Given the description of an element on the screen output the (x, y) to click on. 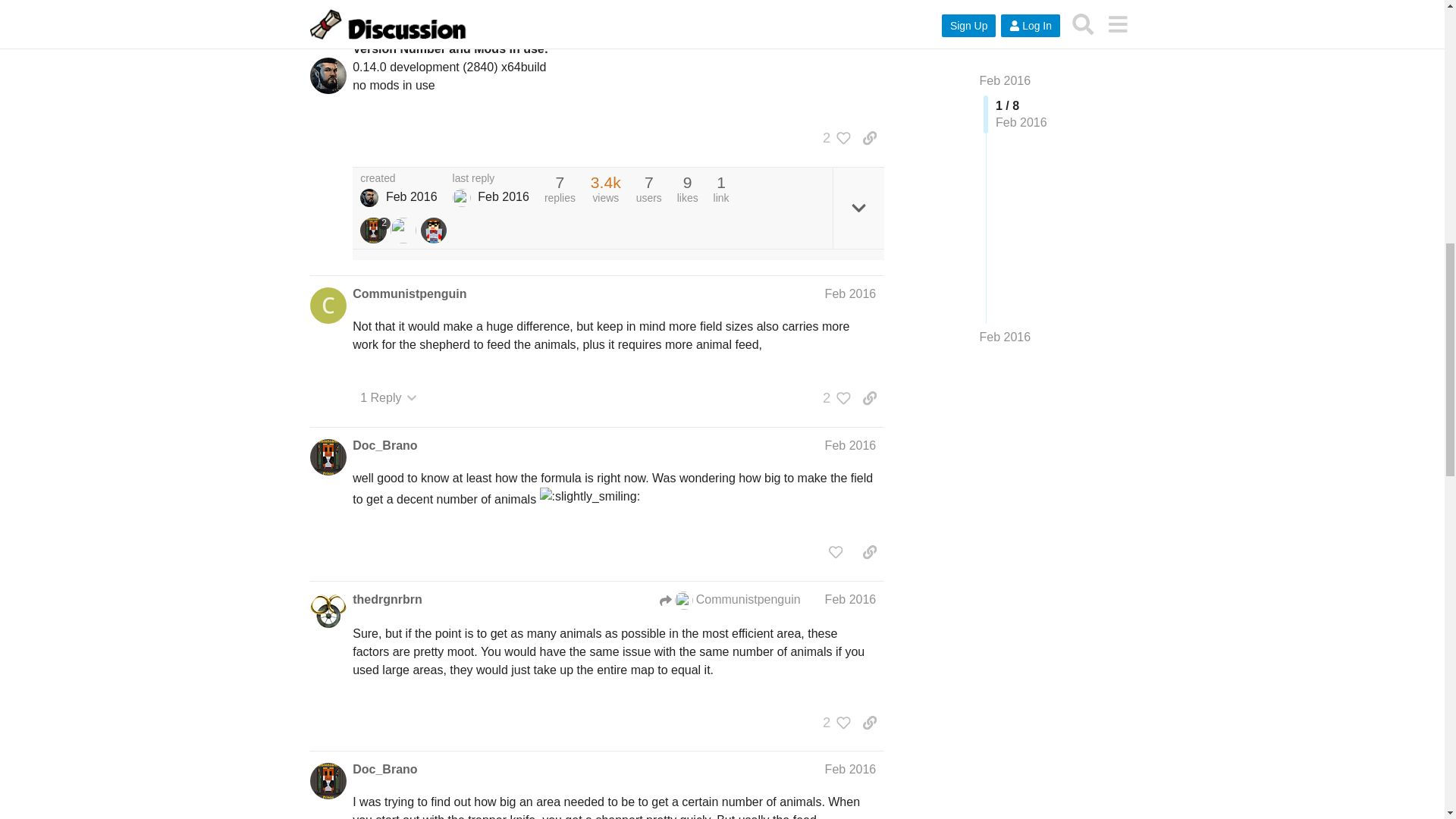
copy a link to this post to clipboard (869, 137)
Feb 2016 (850, 293)
Feb 27, 2016 7:21 pm (411, 196)
Feb 2016 (850, 445)
1 Reply (387, 397)
talamatur (368, 198)
Communistpenguin (408, 293)
expand topic details (857, 207)
2 people liked this post (832, 137)
2 (832, 397)
2 (374, 230)
2 (832, 137)
Frostbyte (461, 198)
last reply (490, 178)
